Given the description of an element on the screen output the (x, y) to click on. 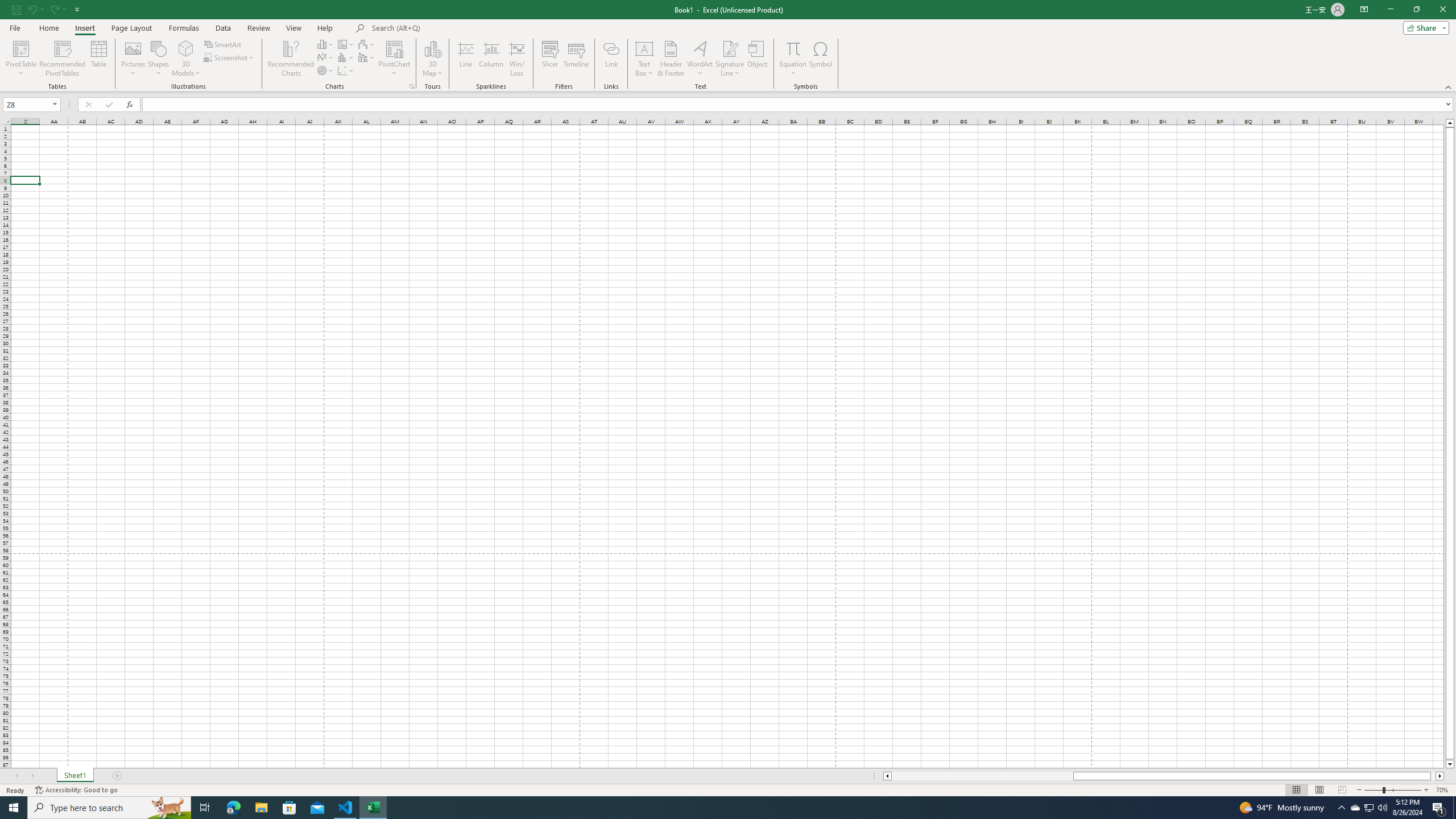
Signature Line (729, 48)
Header & Footer... (670, 58)
Draw Horizontal Text Box (643, 48)
PivotTable (20, 58)
Insert Statistic Chart (346, 56)
Link (611, 58)
